Given the description of an element on the screen output the (x, y) to click on. 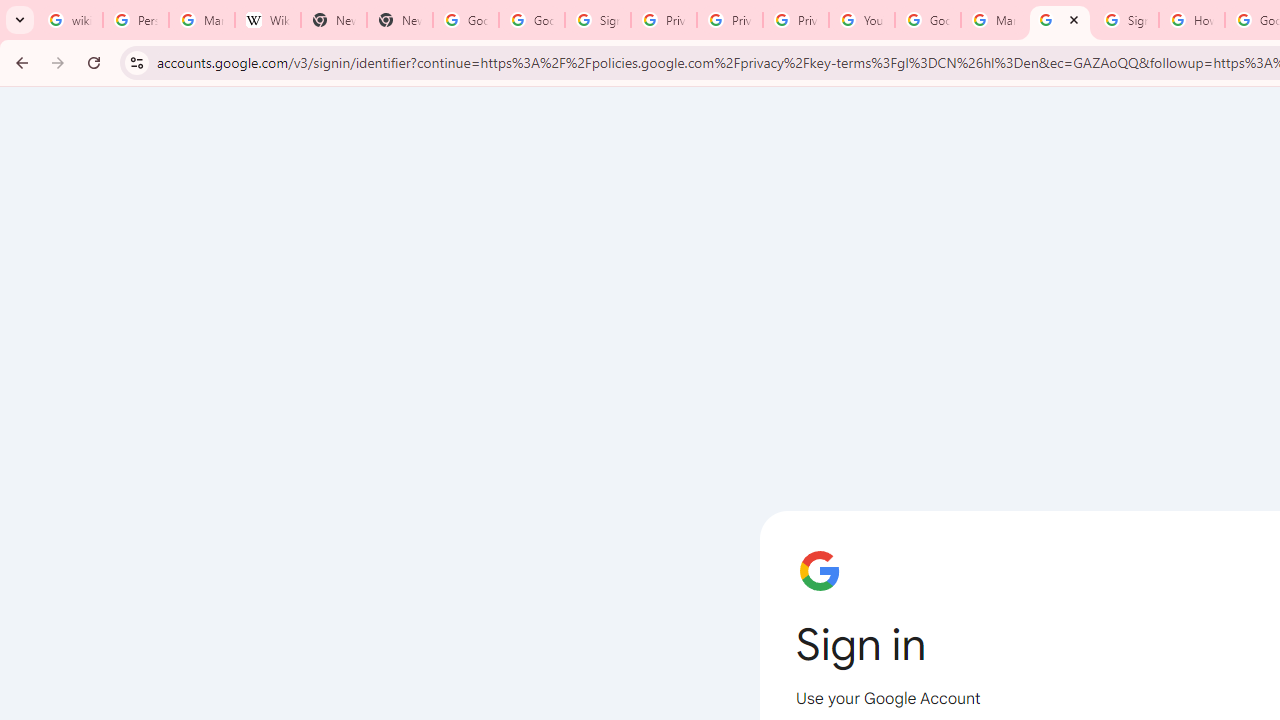
Close (1073, 19)
Manage your Location History - Google Search Help (202, 20)
Forward (57, 62)
YouTube (861, 20)
Google Drive: Sign-in (531, 20)
New Tab (399, 20)
